Given the description of an element on the screen output the (x, y) to click on. 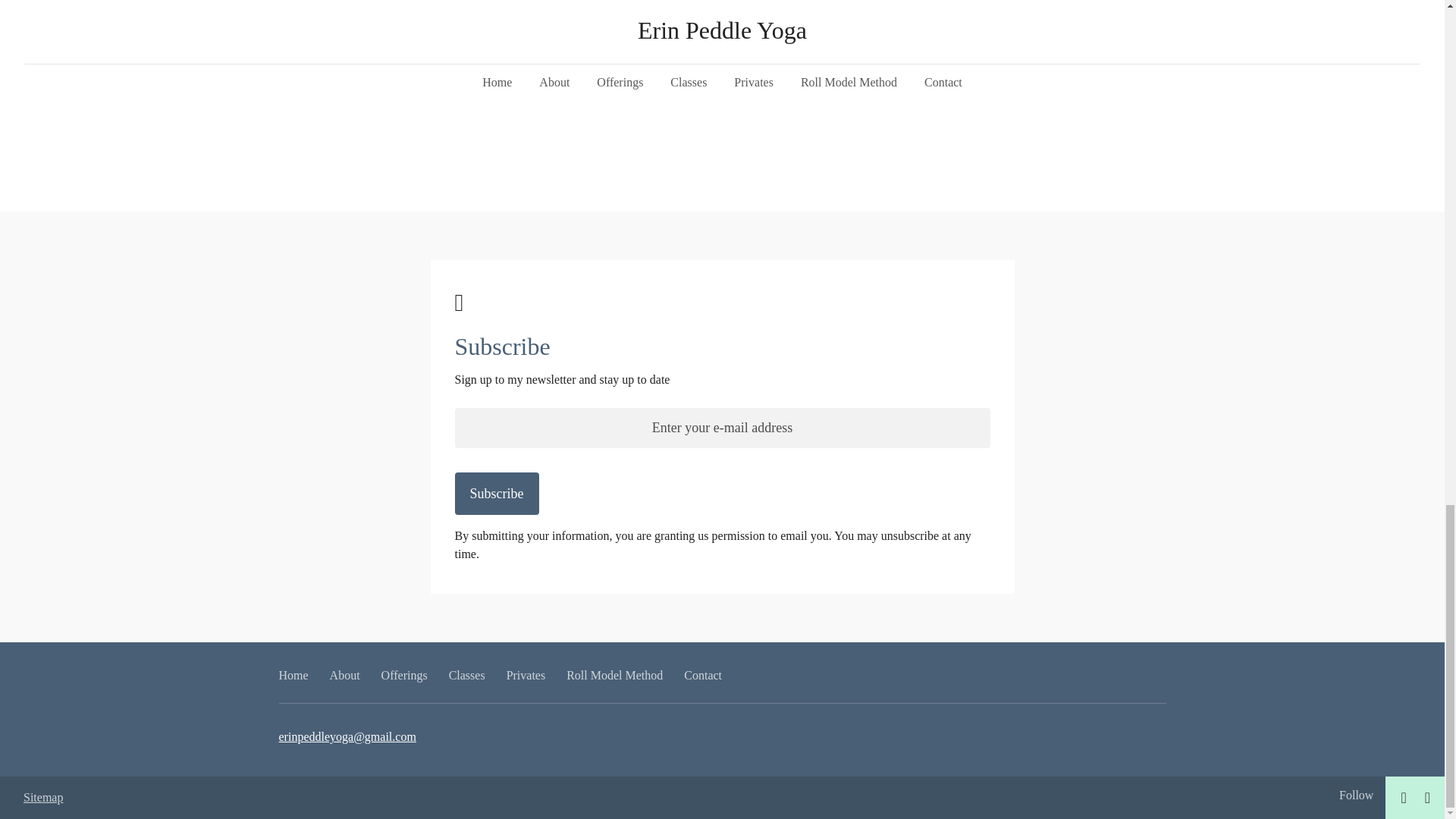
About (344, 675)
Contact (703, 675)
Privates (526, 675)
Subscribe (496, 493)
Sitemap (42, 797)
Home (293, 675)
Offerings (404, 675)
Classes (466, 675)
Roll Model Method (614, 675)
